Given the description of an element on the screen output the (x, y) to click on. 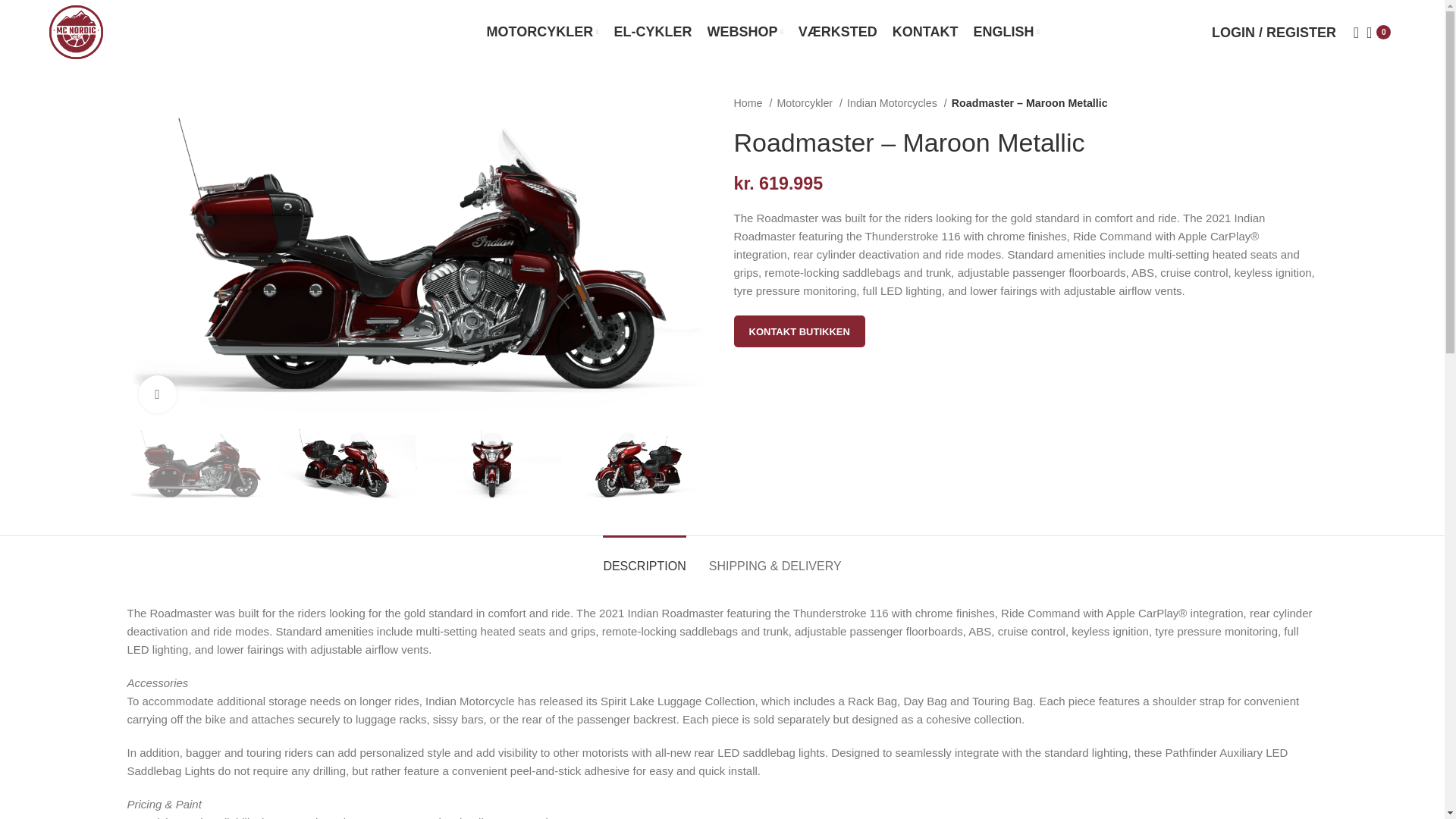
WEBSHOP (744, 31)
ENGLISH (1005, 31)
EL-CYKLER (653, 31)
MOTORCYKLER (542, 31)
KONTAKT (925, 31)
